Given the description of an element on the screen output the (x, y) to click on. 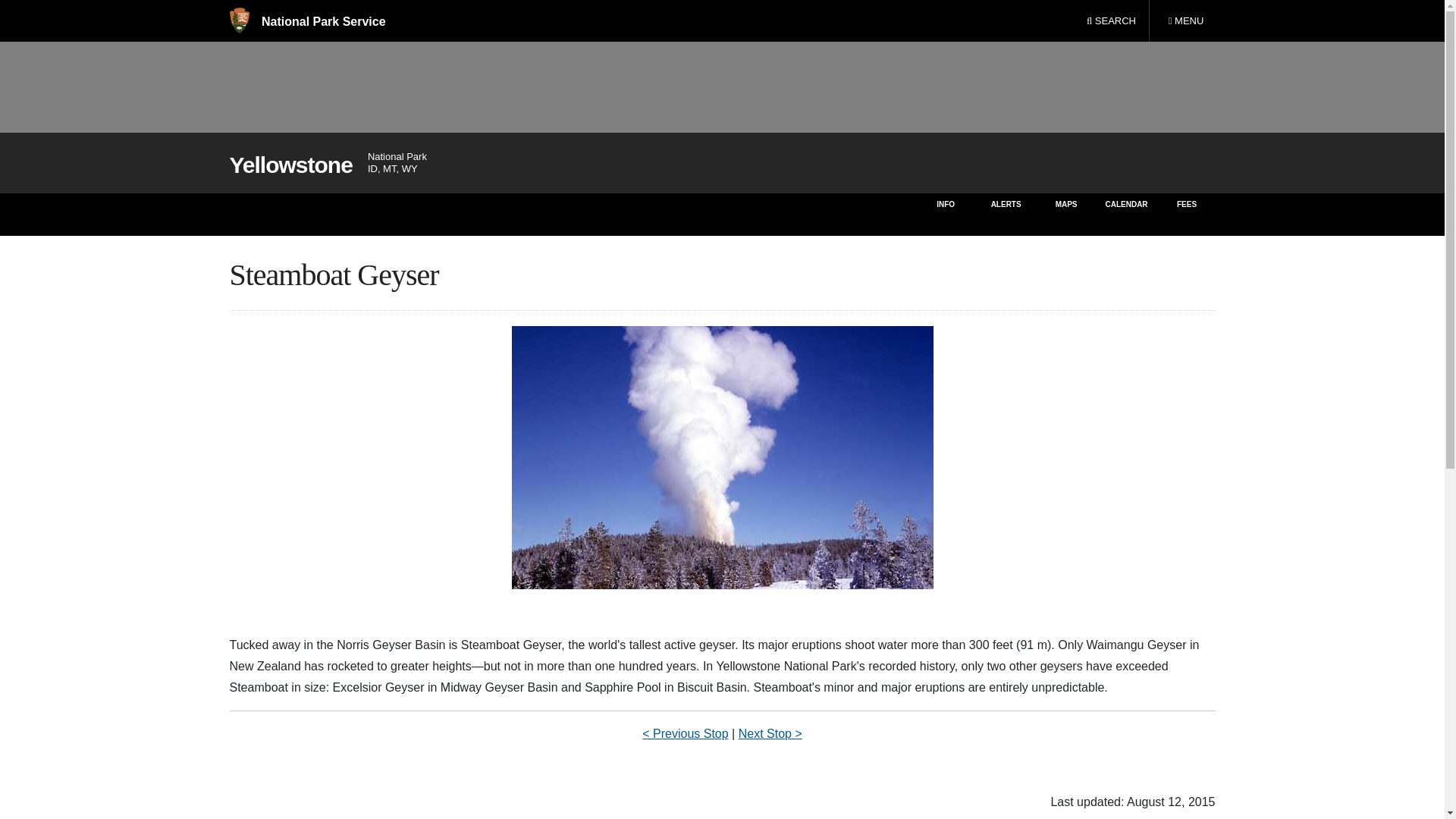
CALENDAR (1125, 214)
SEARCH (1185, 20)
FEES (1111, 20)
Yellowstone (1186, 214)
ALERTS (290, 164)
MAPS (1004, 214)
National Park Service (1066, 214)
INFO (307, 20)
